Given the description of an element on the screen output the (x, y) to click on. 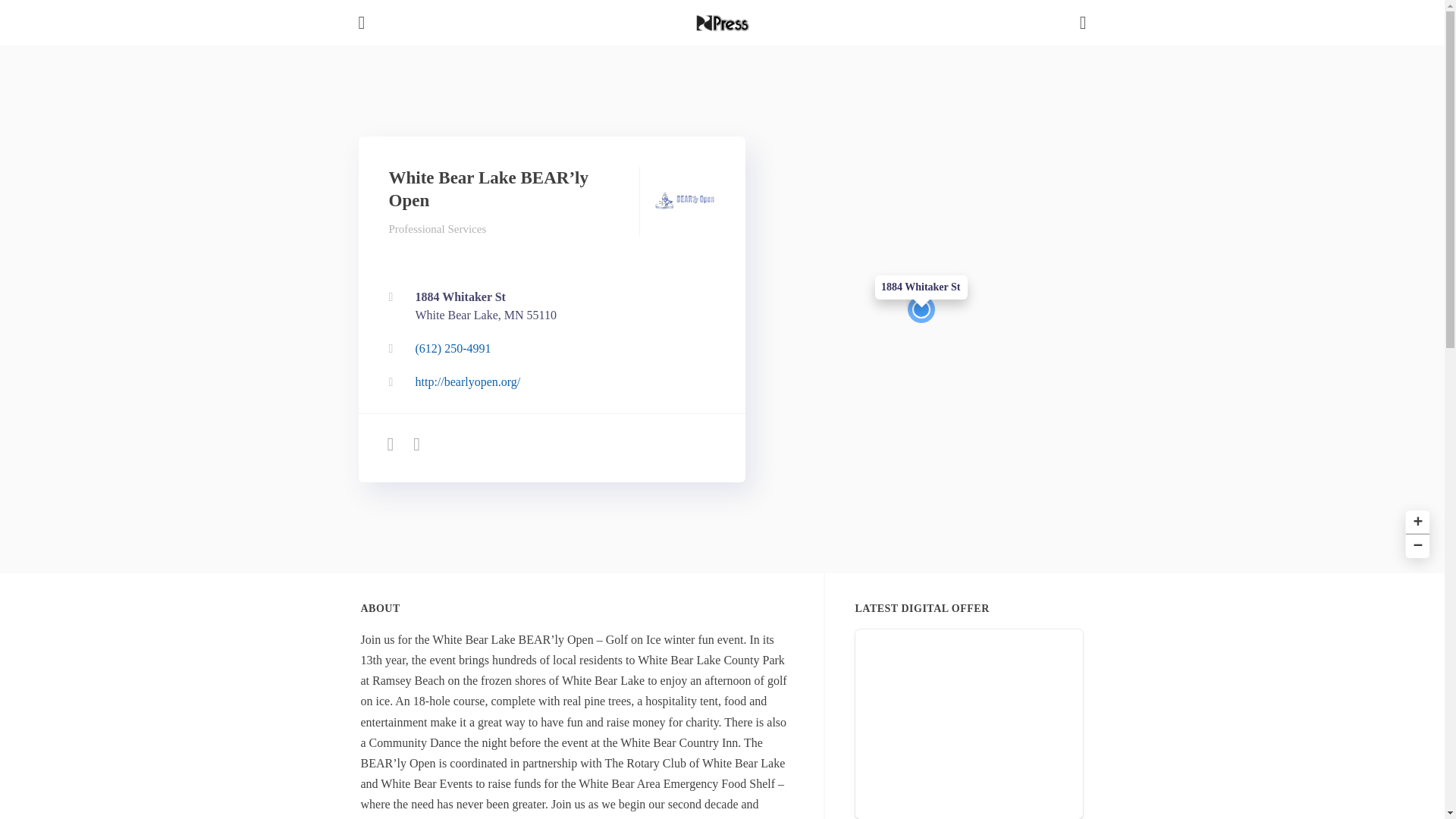
Get directions (547, 306)
Zoom in (547, 306)
Open website in a new tab (1415, 519)
Zoom out (547, 381)
Call Phone Number (1415, 544)
Professional Services (547, 348)
Origami widget number: 812311 (437, 228)
